Given the description of an element on the screen output the (x, y) to click on. 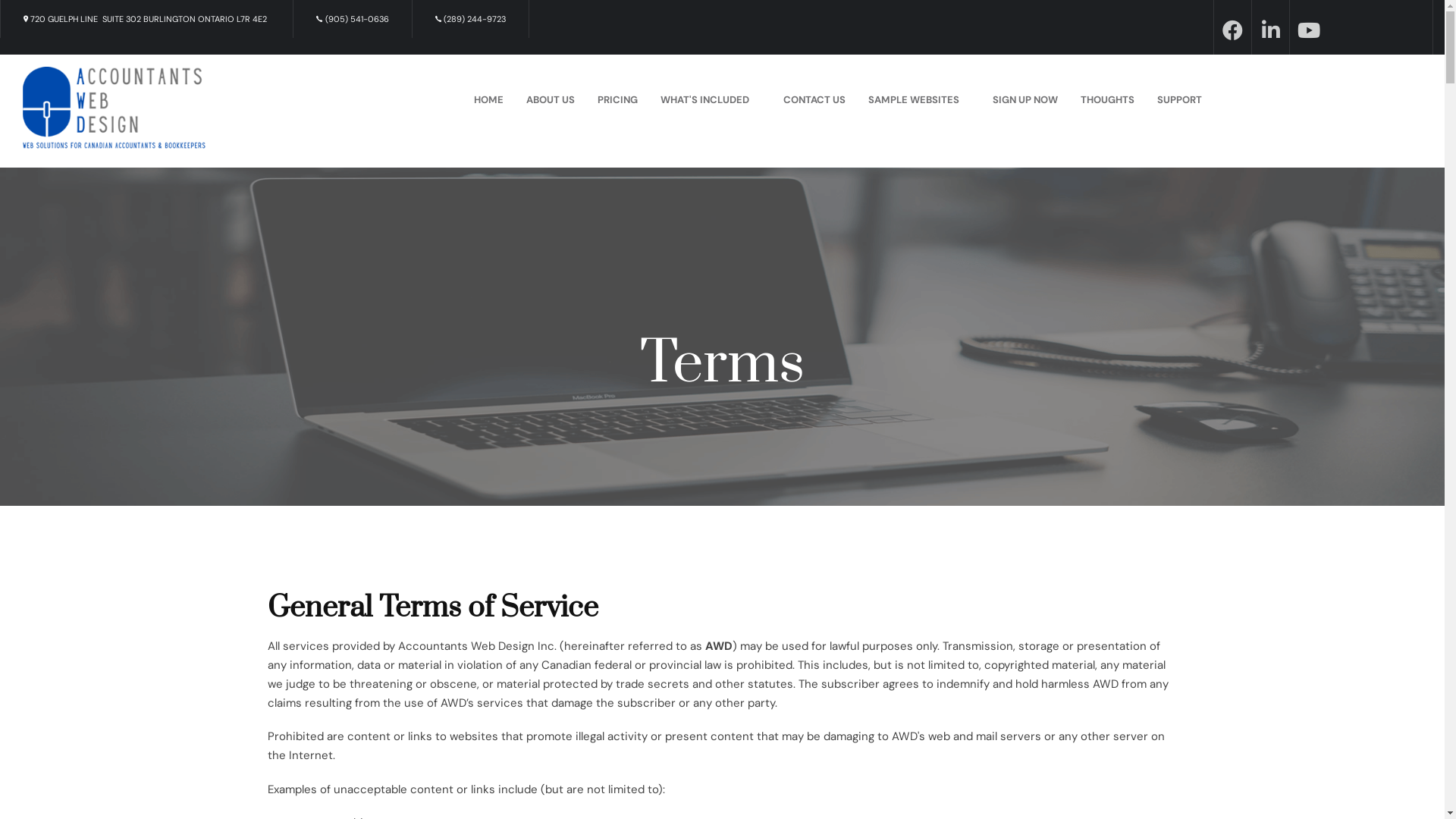
PRICING Element type: text (617, 100)
THOUGHTS Element type: text (1107, 100)
CONTACT US Element type: text (813, 100)
linkedin Element type: hover (1270, 30)
(905) 541-0636 Element type: text (352, 18)
youtube Element type: hover (1308, 30)
facebook Element type: hover (1233, 30)
720 GUELPH LINE  SUITE 302 BURLINGTON ONTARIO L7R 4E2 Element type: text (146, 18)
Click to Call Element type: hover (438, 18)
HOME Element type: text (488, 100)
SIGN UP NOW Element type: text (1025, 100)
ABOUT US Element type: text (550, 100)
(289) 244-9723 Element type: text (470, 18)
Click to Call Element type: hover (319, 18)
SUPPORT Element type: text (1179, 100)
